Given the description of an element on the screen output the (x, y) to click on. 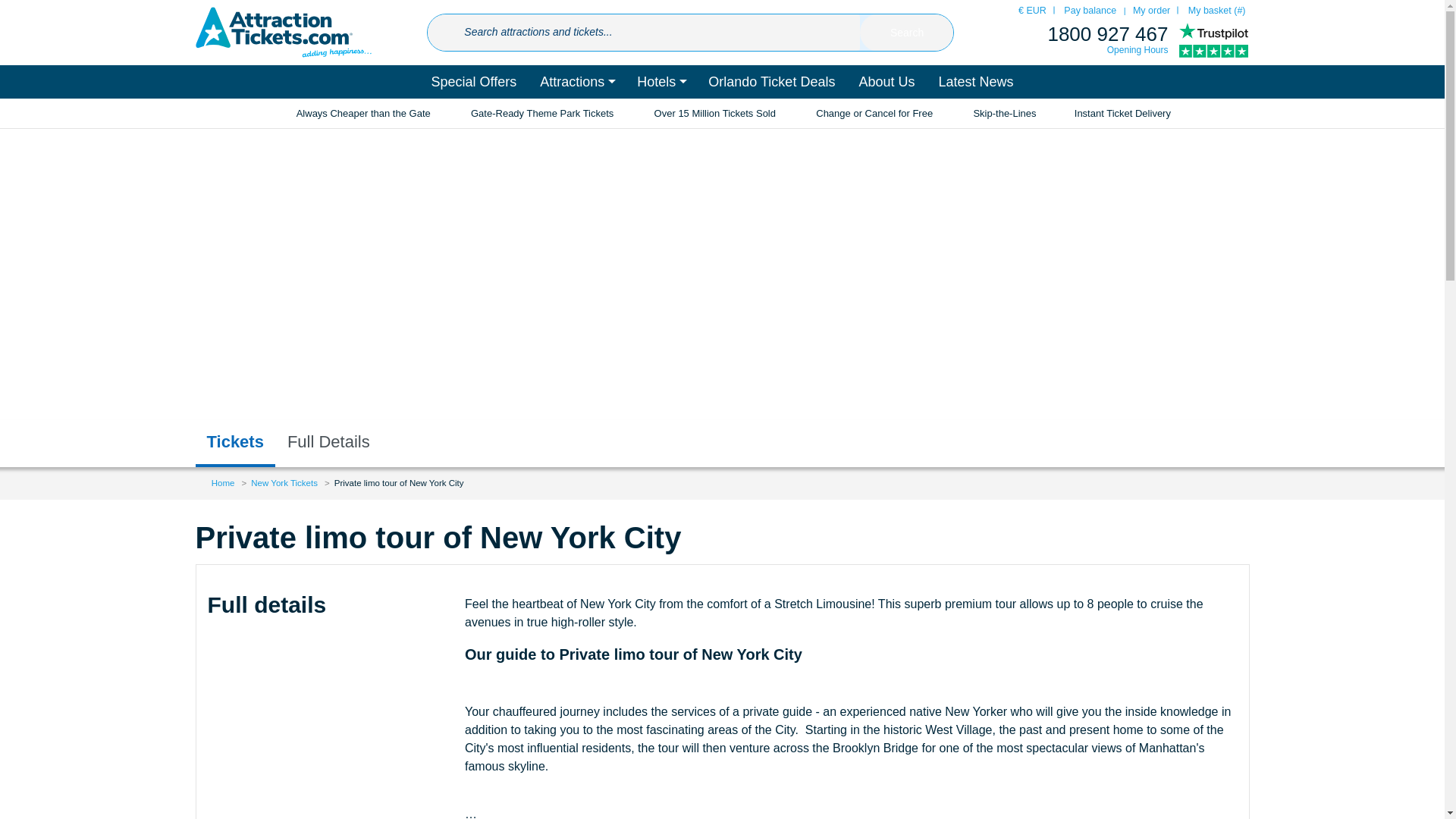
Hotels (660, 81)
Orlando Ticket Deals (771, 81)
Search (906, 32)
Attractions (576, 81)
Search (906, 32)
1800 927 467 (1106, 34)
Search (906, 32)
Special Offers (472, 81)
